Given the description of an element on the screen output the (x, y) to click on. 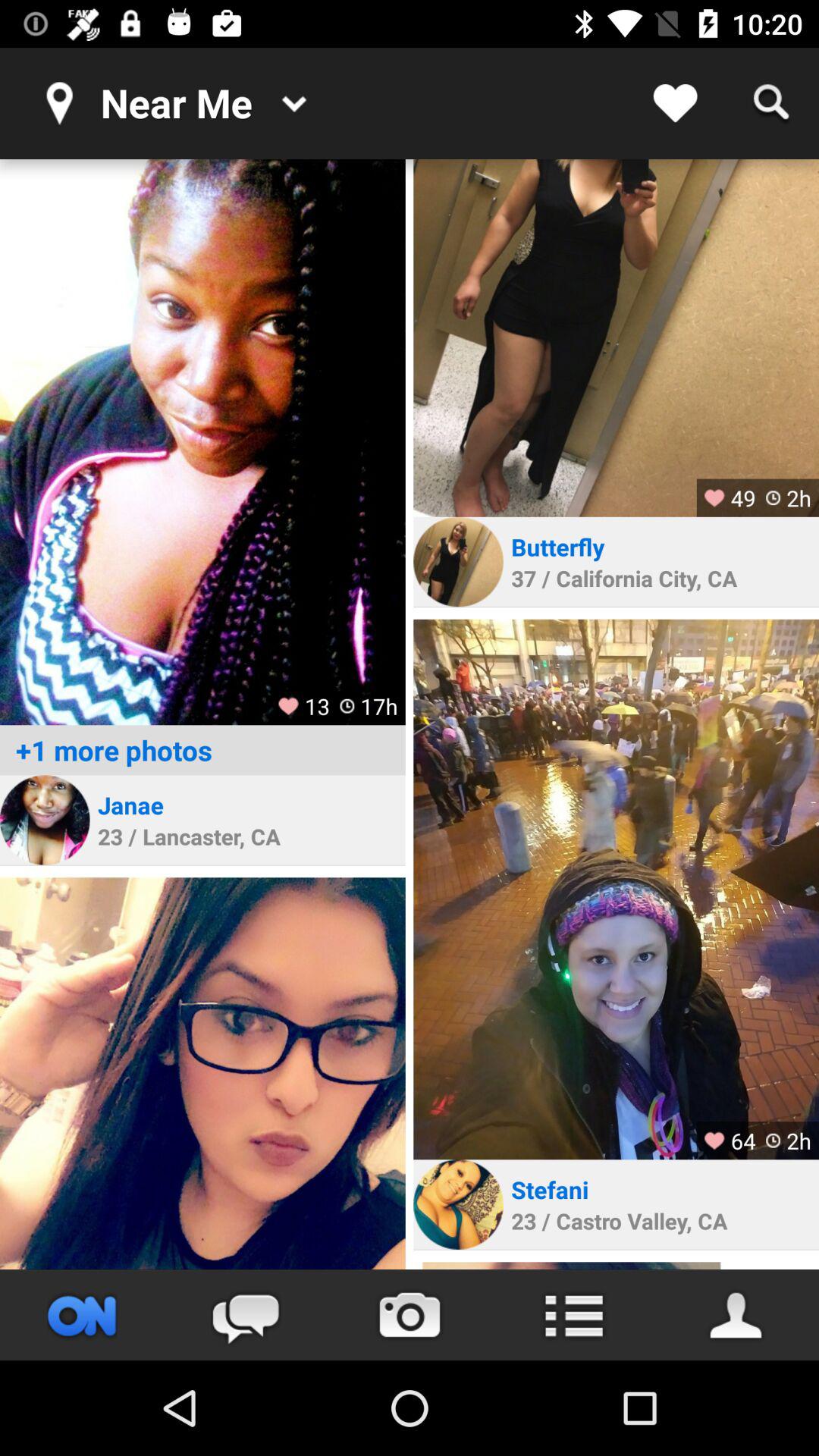
view user profile (616, 337)
